Given the description of an element on the screen output the (x, y) to click on. 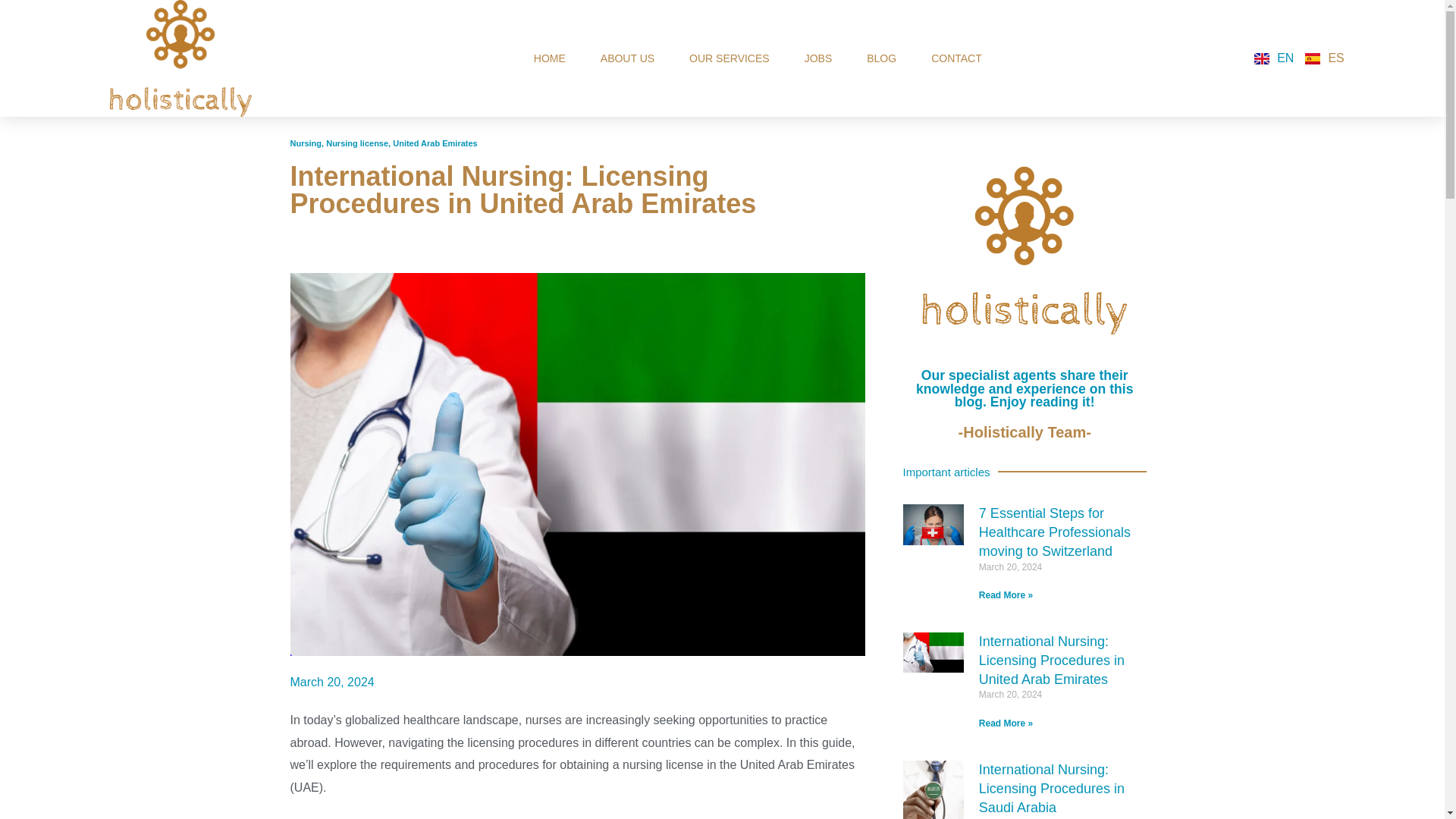
JOBS (818, 58)
March 20, 2024 (331, 681)
CONTACT (956, 58)
Nursing license (357, 143)
ES (1323, 58)
United Arab Emirates (435, 143)
EN (1273, 58)
ABOUT US (627, 58)
OUR SERVICES (729, 58)
Nursing (305, 143)
HOME (549, 58)
BLOG (881, 58)
